Given the description of an element on the screen output the (x, y) to click on. 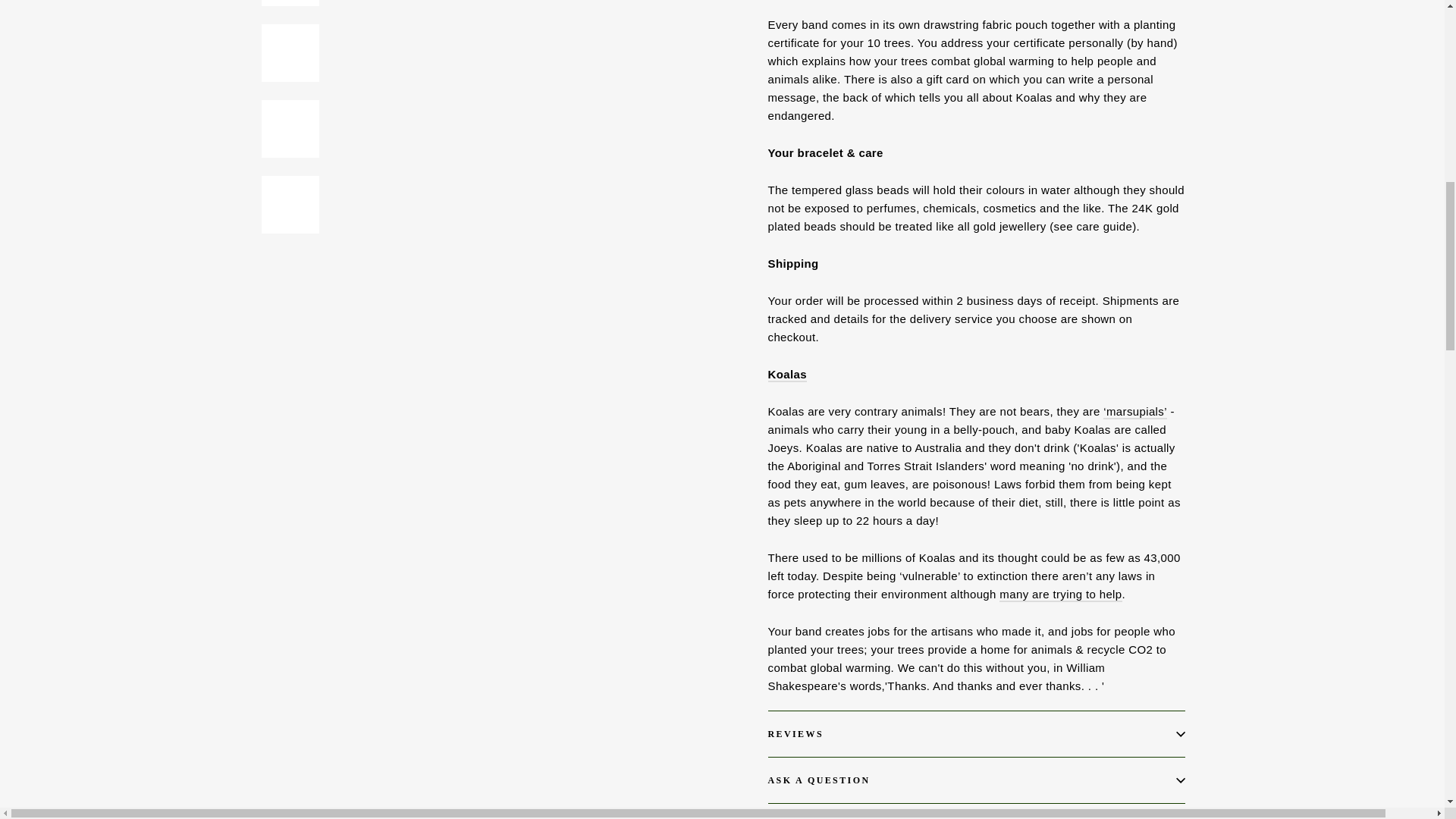
Koala (1059, 594)
Koala (786, 374)
Koala (1135, 411)
